Given the description of an element on the screen output the (x, y) to click on. 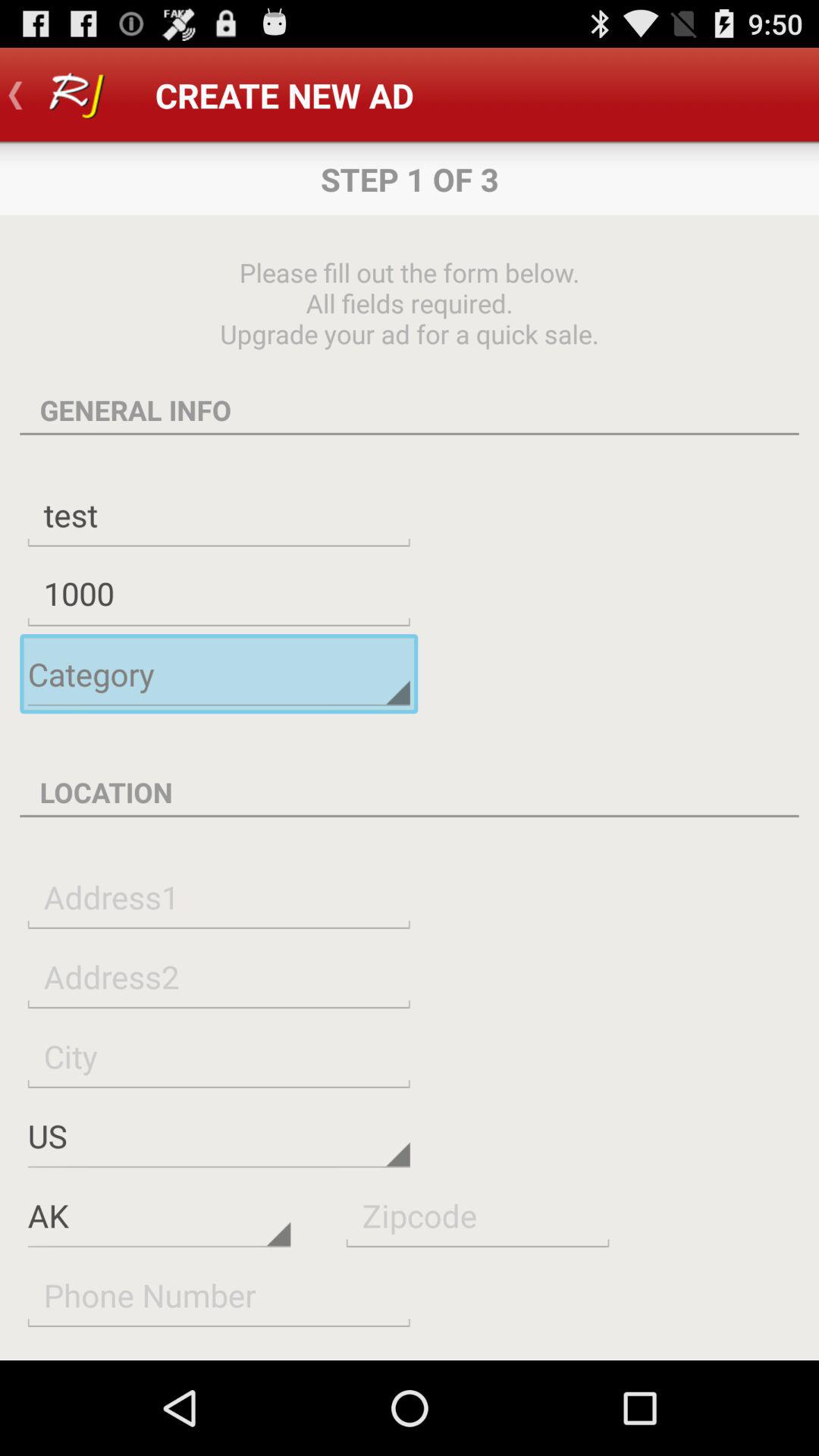
add address (218, 896)
